Given the description of an element on the screen output the (x, y) to click on. 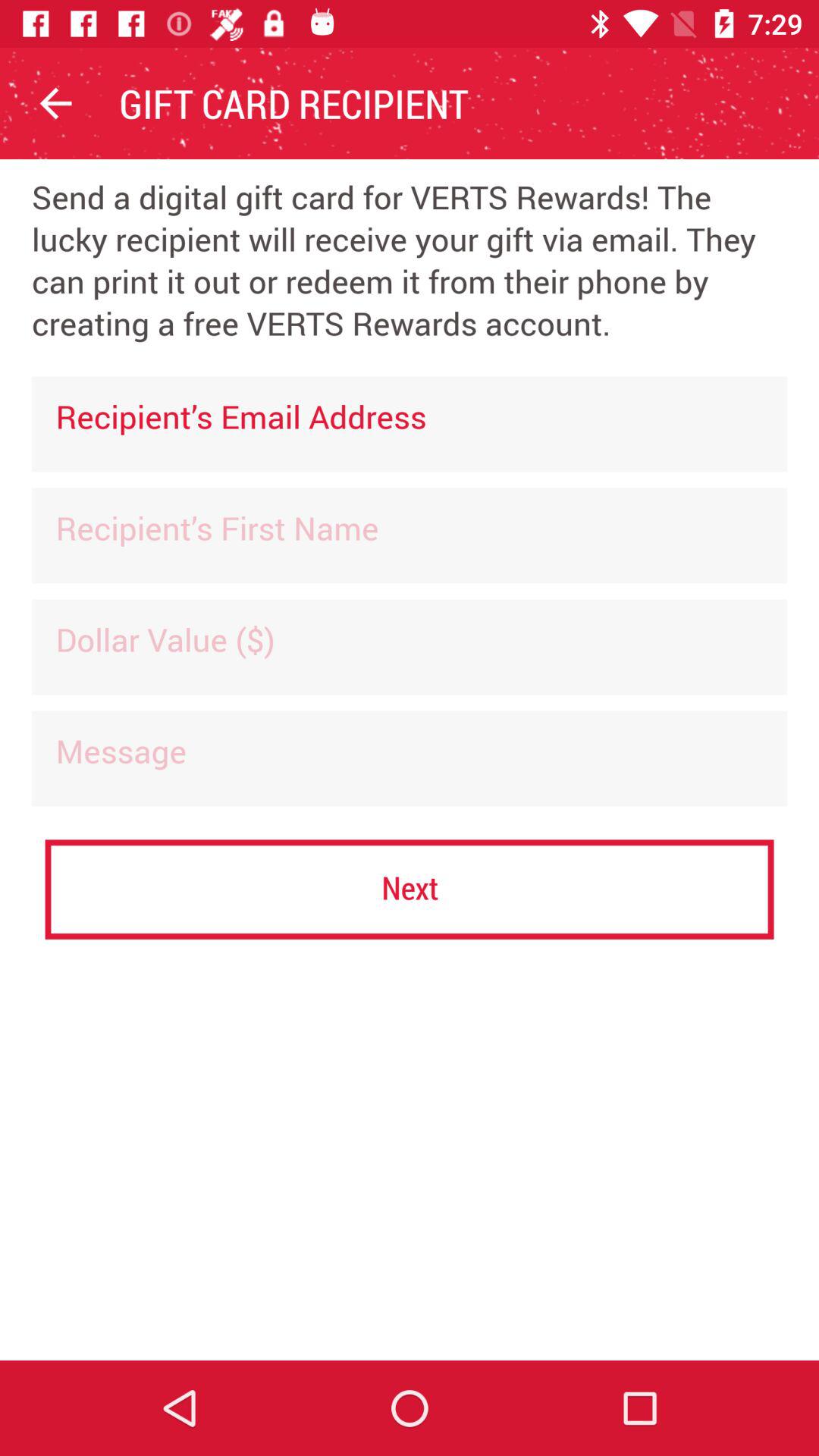
press the next icon (409, 889)
